Given the description of an element on the screen output the (x, y) to click on. 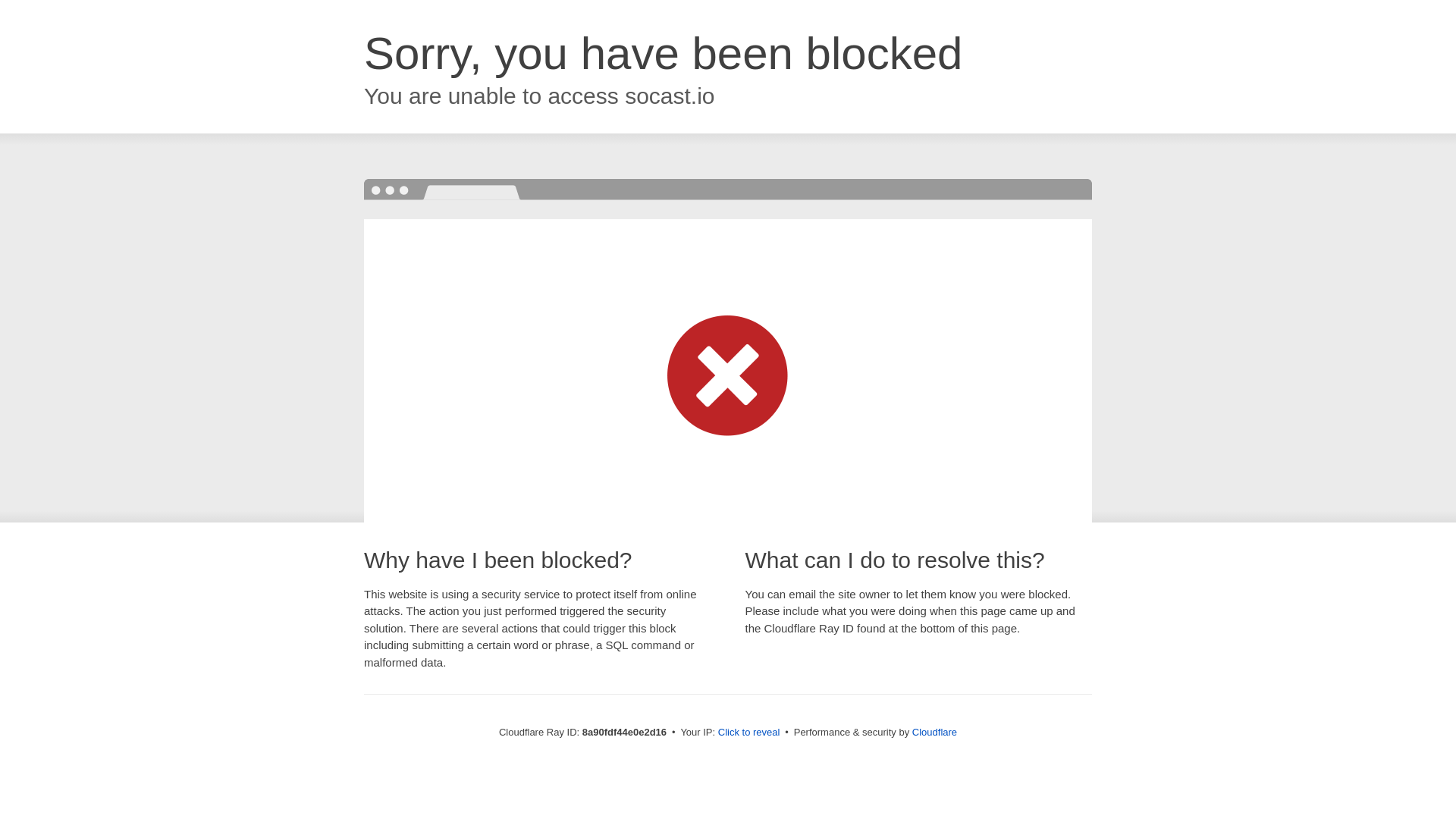
Click to reveal (748, 732)
Cloudflare (934, 731)
